Given the description of an element on the screen output the (x, y) to click on. 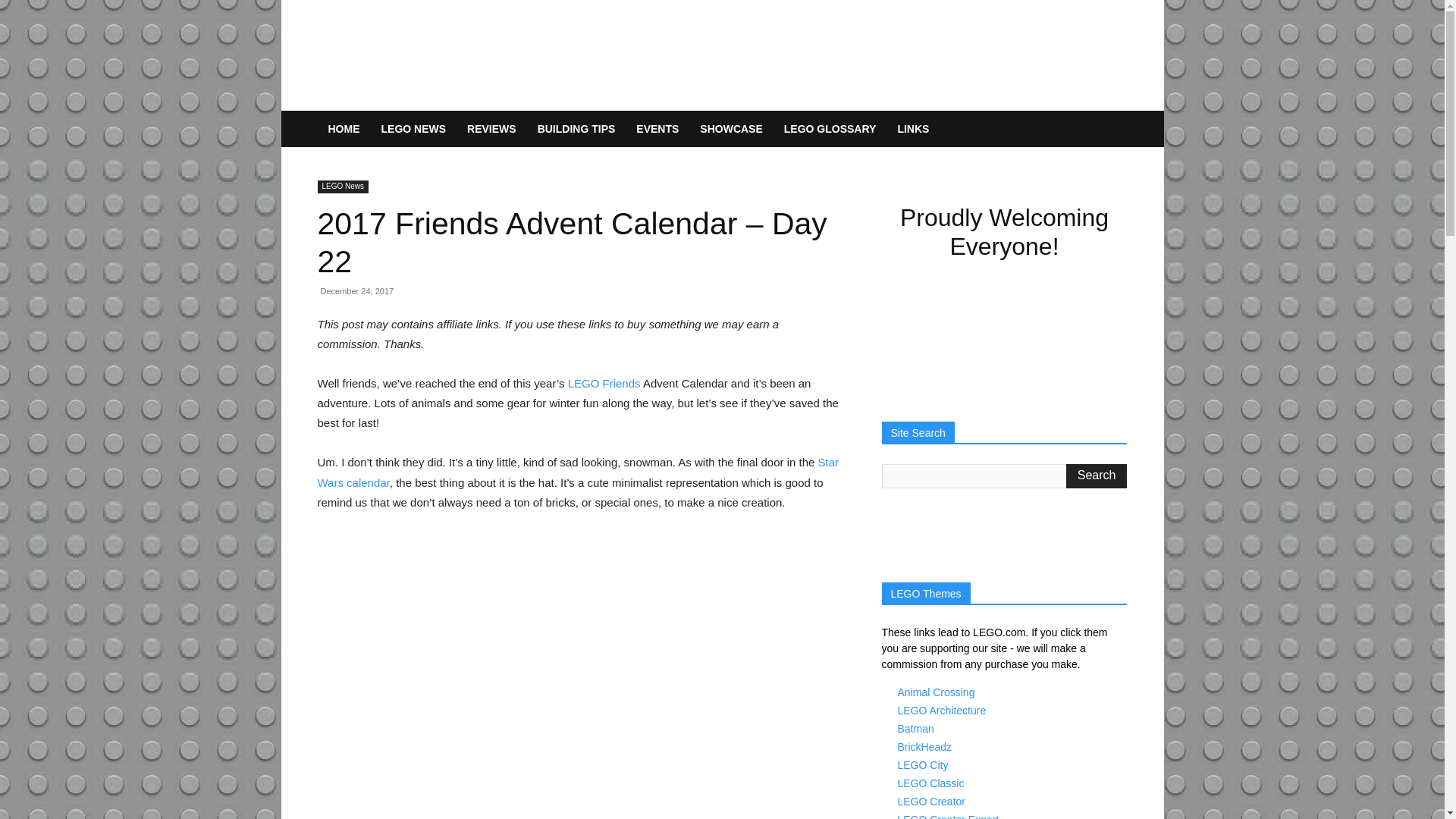
LEGO NEWS (413, 128)
LEGO News (342, 186)
Search (1095, 476)
LEGO Friends (603, 382)
LEGO GLOSSARY (829, 128)
LINKS (912, 128)
HOME (343, 128)
Star Wars calendar (577, 471)
REVIEWS (492, 128)
BUILDING TIPS (576, 128)
